Given the description of an element on the screen output the (x, y) to click on. 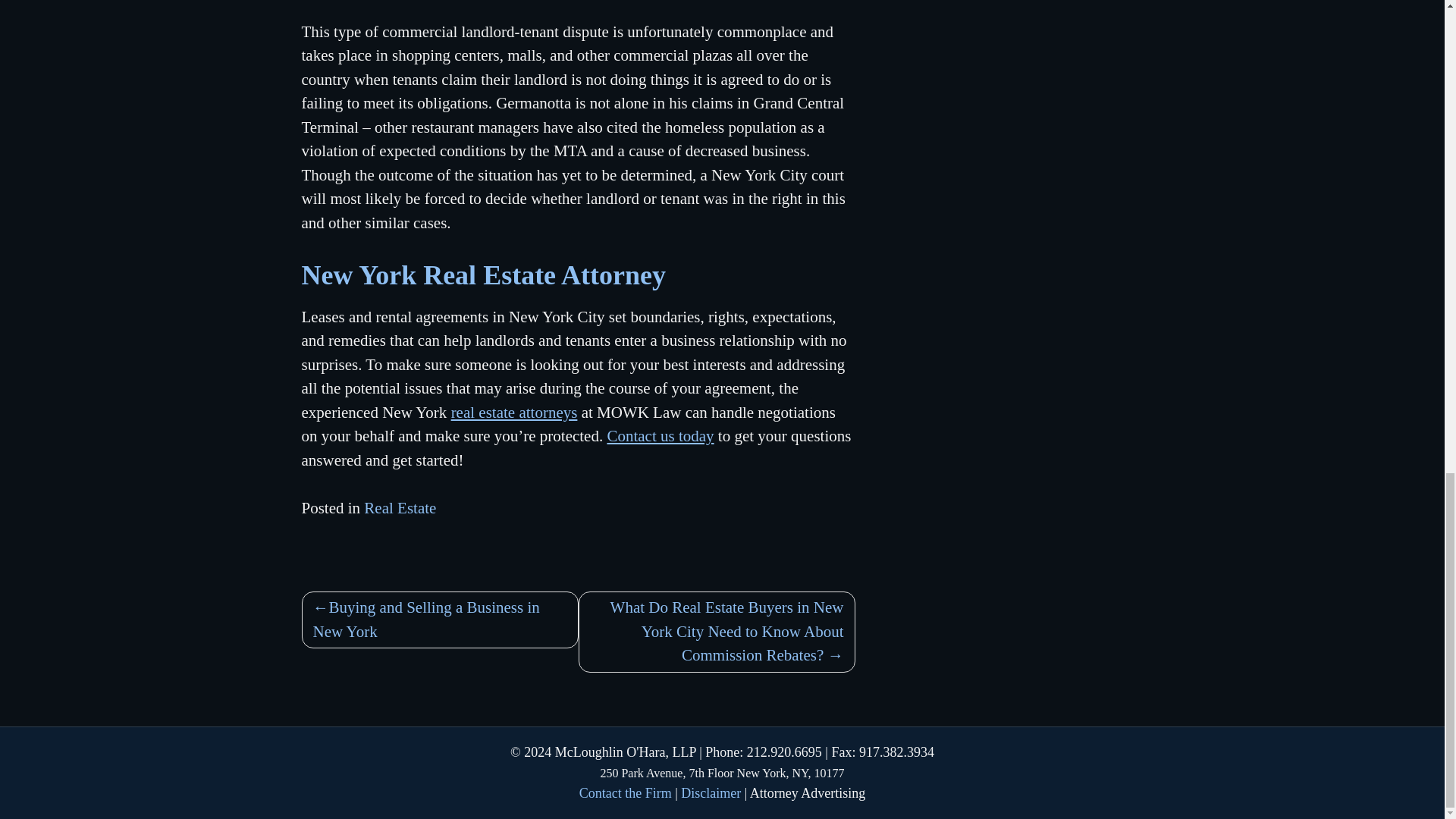
Buying and Selling a Business in New York (439, 619)
Real Estate (399, 507)
917.382.3934 (896, 752)
212.920.6695 (784, 752)
Contact us today (660, 435)
Contact the Firm (625, 792)
real estate attorneys (514, 412)
